Given the description of an element on the screen output the (x, y) to click on. 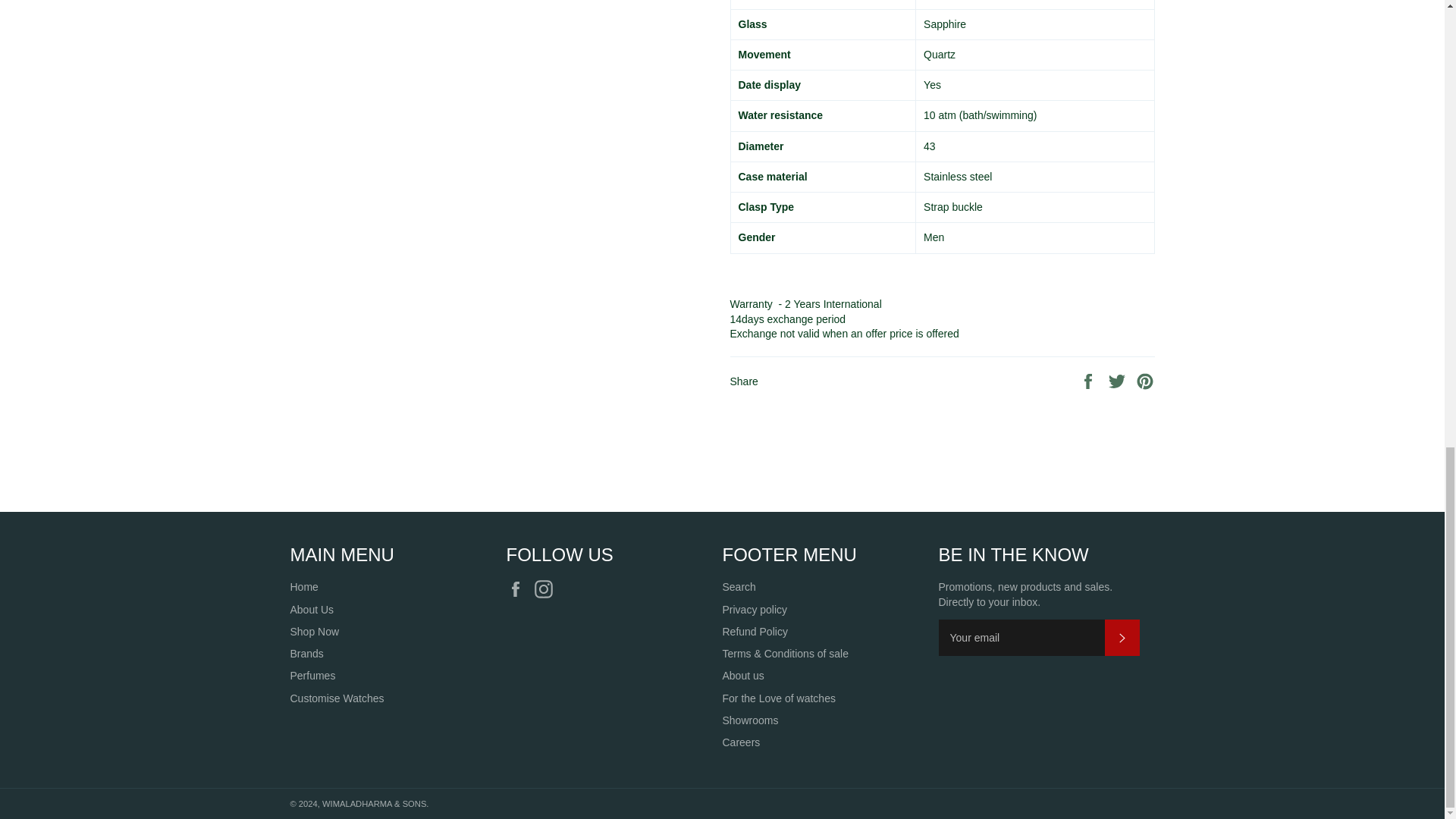
Pin on Pinterest (1144, 380)
Tweet on Twitter (1118, 380)
Share on Facebook (1089, 380)
